Given the description of an element on the screen output the (x, y) to click on. 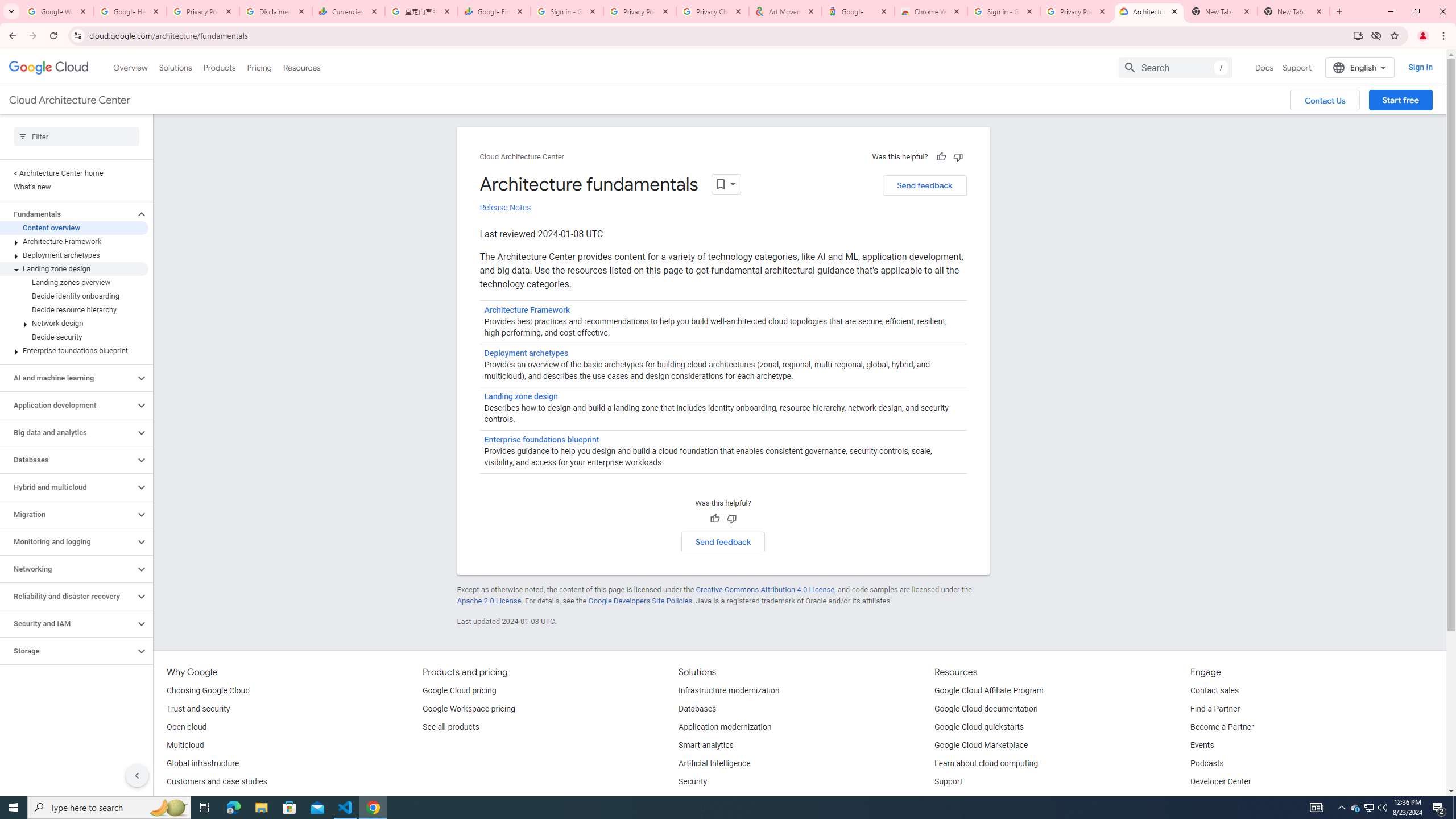
Cloud Architecture Center (521, 156)
Networking (67, 568)
Decide resource hierarchy (74, 309)
Decide identity onboarding (74, 296)
Open dropdown (726, 183)
Products (218, 67)
Google Workspace Admin Community (57, 11)
Find a Partner (1215, 709)
Network design (74, 323)
Currencies - Google Finance (348, 11)
